Given the description of an element on the screen output the (x, y) to click on. 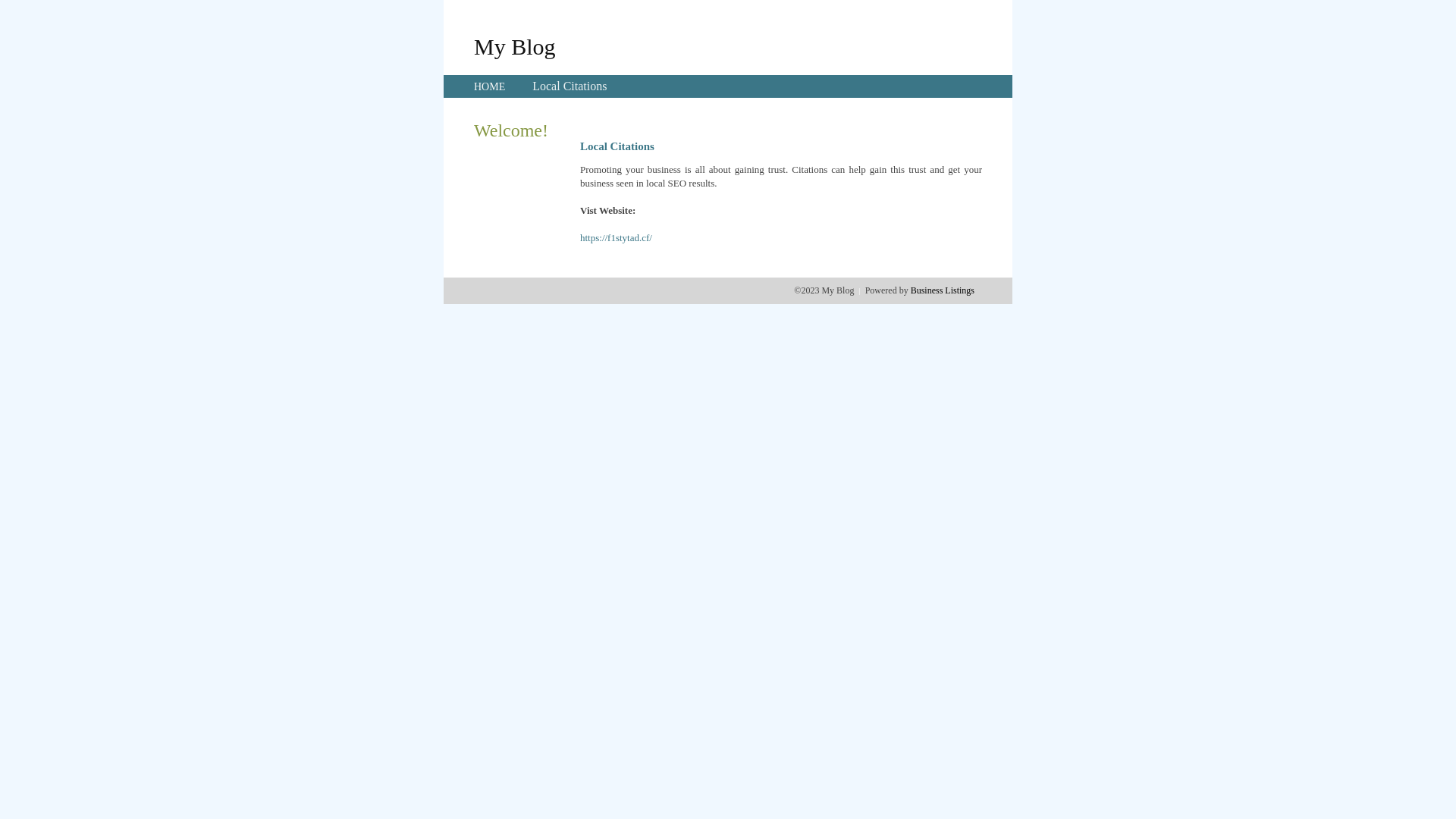
https://f1stytad.cf/ Element type: text (616, 237)
HOME Element type: text (489, 86)
Local Citations Element type: text (569, 85)
Business Listings Element type: text (942, 290)
My Blog Element type: text (514, 46)
